Given the description of an element on the screen output the (x, y) to click on. 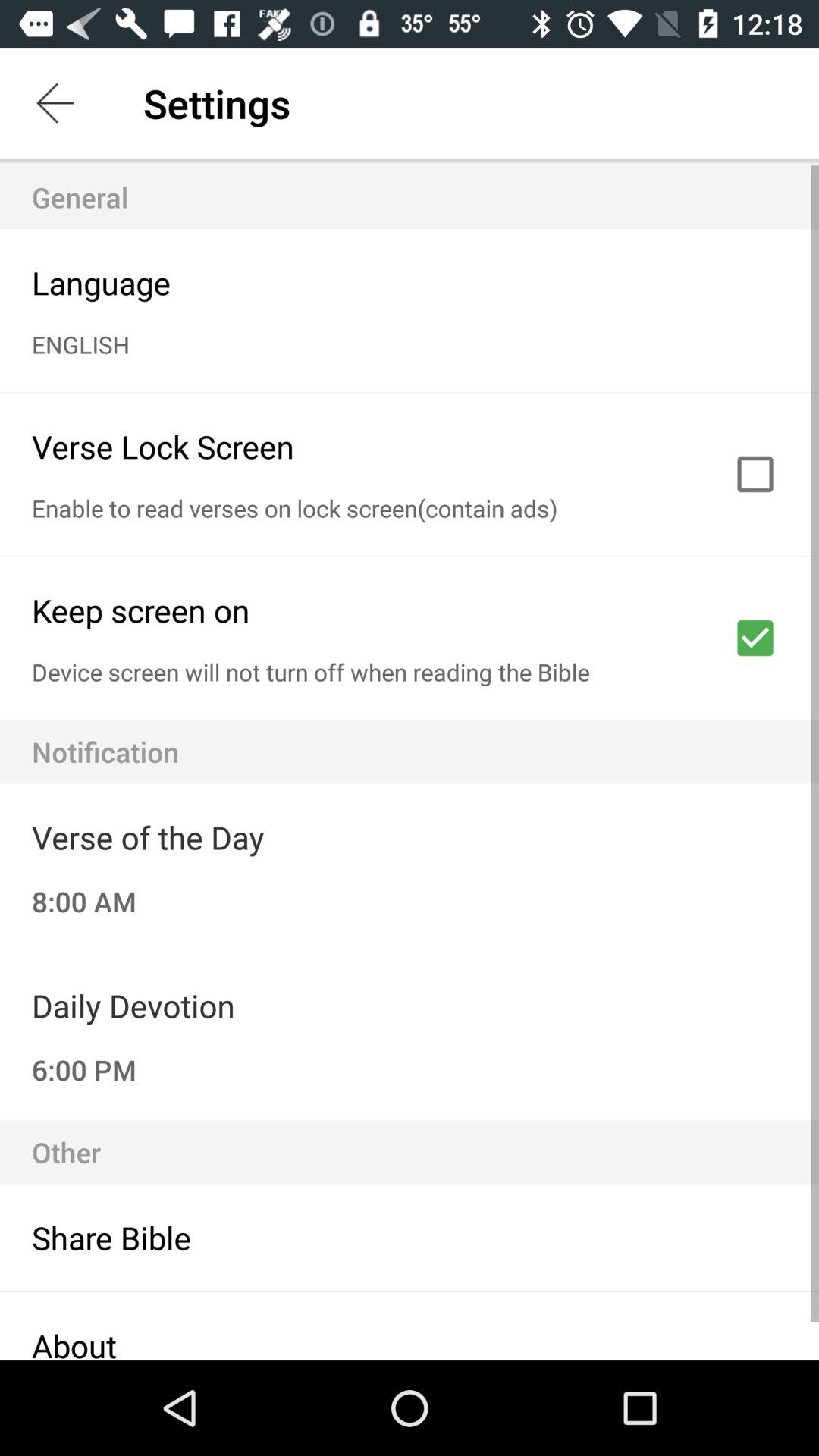
click in the box (755, 474)
